Given the description of an element on the screen output the (x, y) to click on. 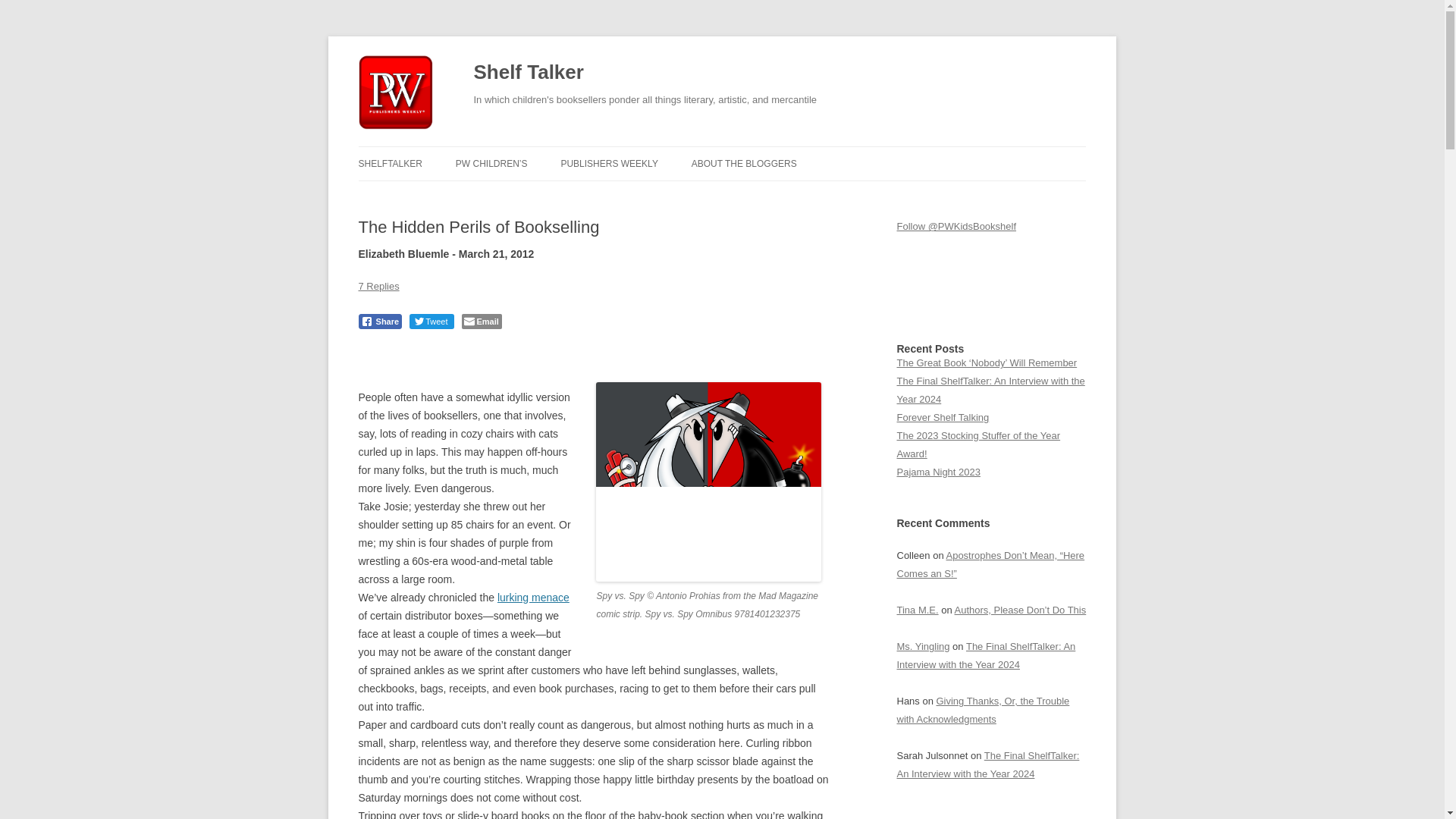
ABOUT THE BLOGGERS (743, 163)
lurking menace (533, 597)
Share (379, 321)
Tweet (430, 321)
Email (480, 321)
Shelf Talker (528, 72)
7 Replies (378, 285)
PUBLISHERS WEEKLY (609, 163)
